Given the description of an element on the screen output the (x, y) to click on. 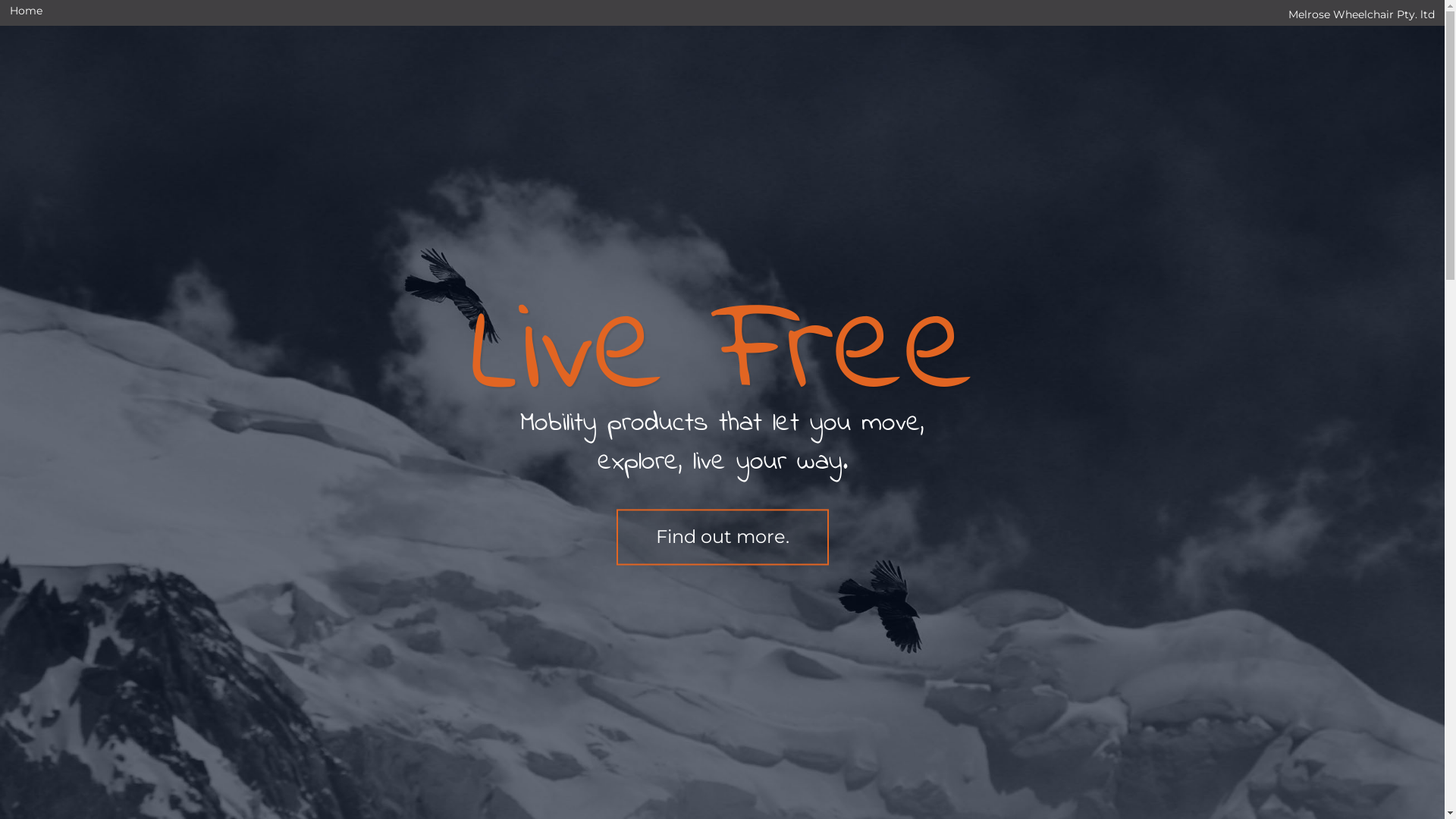
Home Element type: text (26, 9)
Find out more. Element type: text (721, 536)
